Given the description of an element on the screen output the (x, y) to click on. 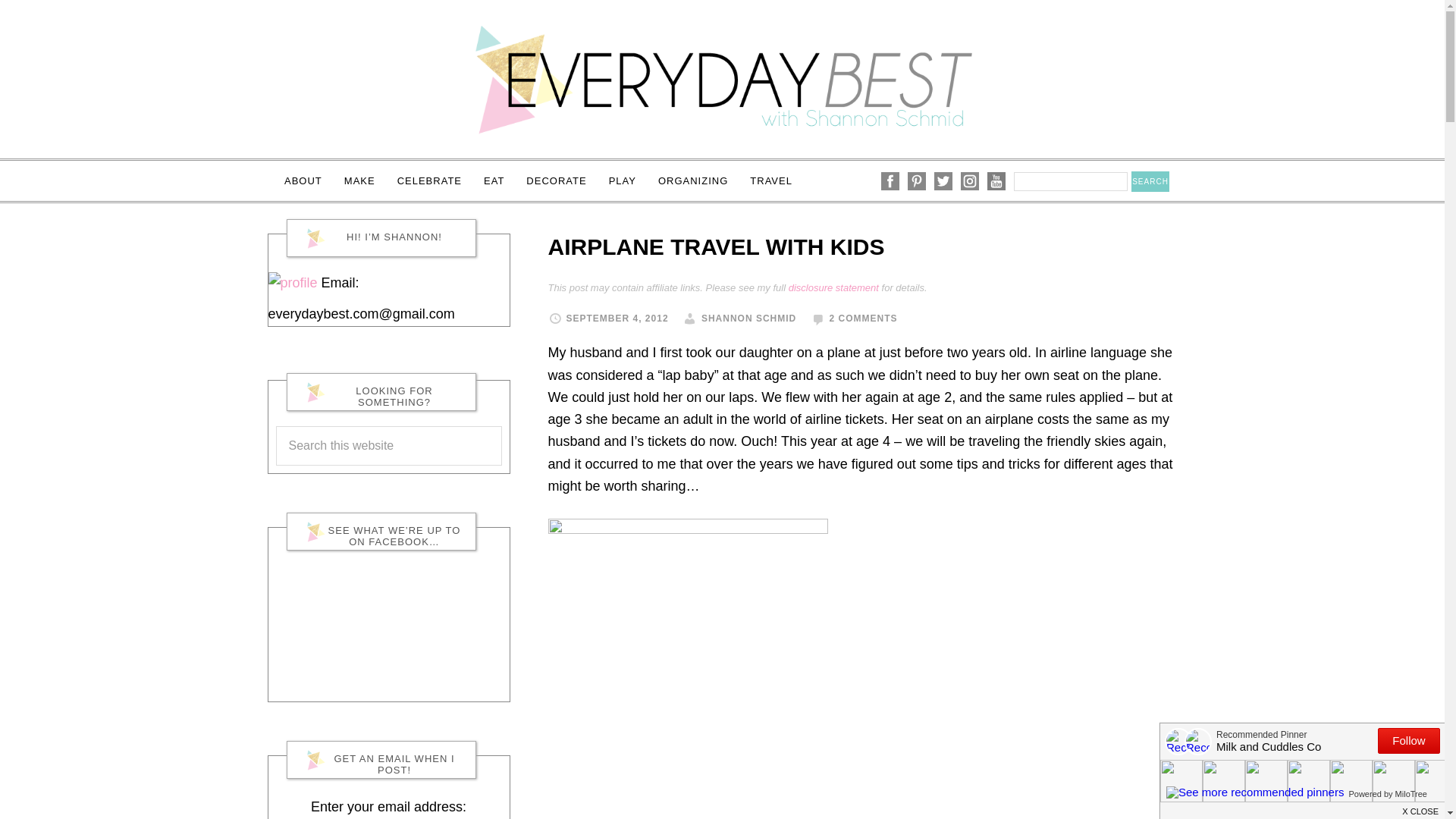
ABOUT (303, 180)
CELEBRATE (429, 180)
EAT (493, 180)
PLAY (622, 180)
TRAVEL (771, 180)
EVERYDAY BEST (722, 79)
DECORATE (555, 180)
MAKE (359, 180)
ORGANIZING (692, 180)
